Given the description of an element on the screen output the (x, y) to click on. 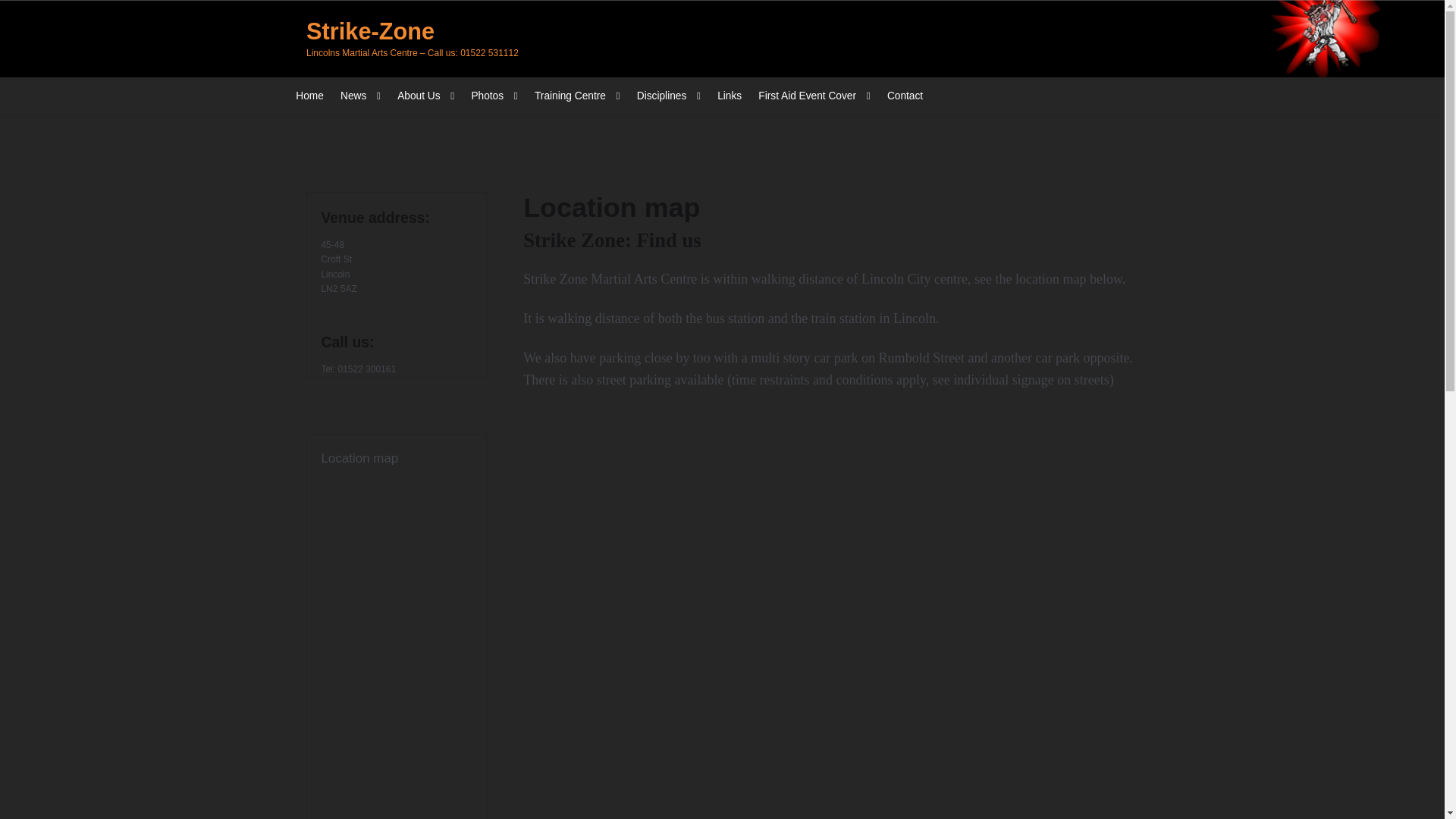
Disciplines (668, 95)
Strike-Zone (369, 31)
Contact (904, 95)
First Aid Event Cover (813, 95)
Training Centre (577, 95)
News (360, 95)
Photos (493, 95)
About Us (425, 95)
